Given the description of an element on the screen output the (x, y) to click on. 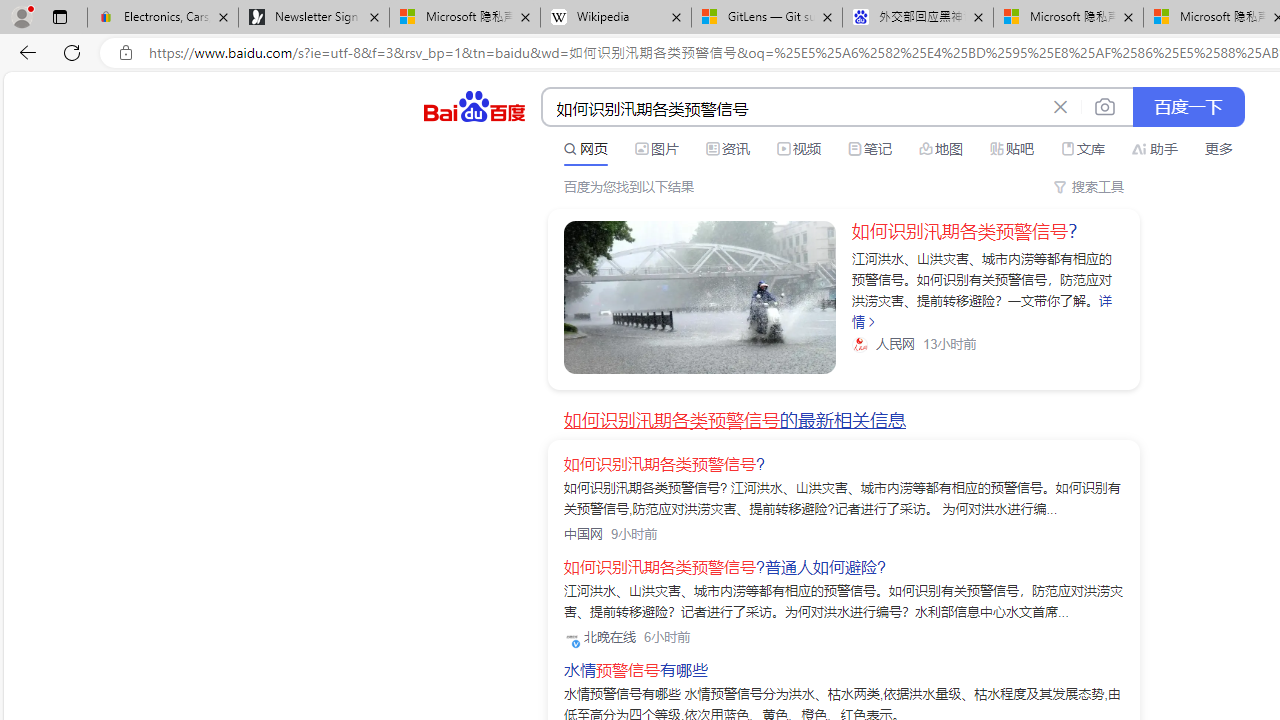
Wikipedia (616, 17)
AutomationID: kw (793, 107)
